Given the description of an element on the screen output the (x, y) to click on. 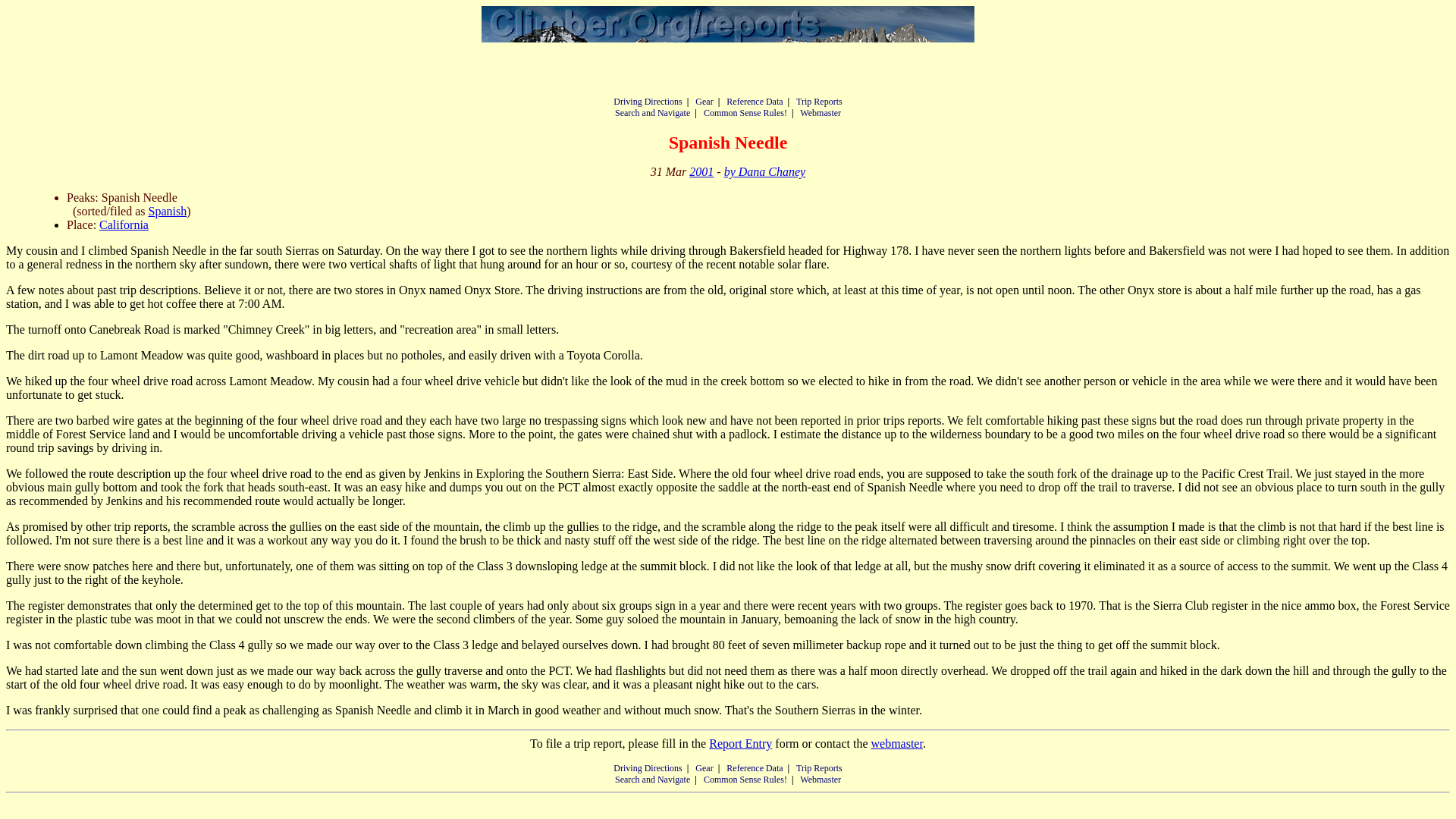
Report Entry (740, 743)
2001 (700, 171)
Search and Navigate (652, 778)
Gear (704, 767)
California (123, 224)
Driving Directions (646, 767)
Webmaster (820, 112)
Trip Reports (819, 767)
Search and Navigate (652, 112)
Reference Data (754, 101)
Common Sense Rules! (745, 778)
Common Sense Rules! (745, 112)
Spanish (167, 210)
by Dana Chaney (764, 171)
Reference Data (754, 767)
